Given the description of an element on the screen output the (x, y) to click on. 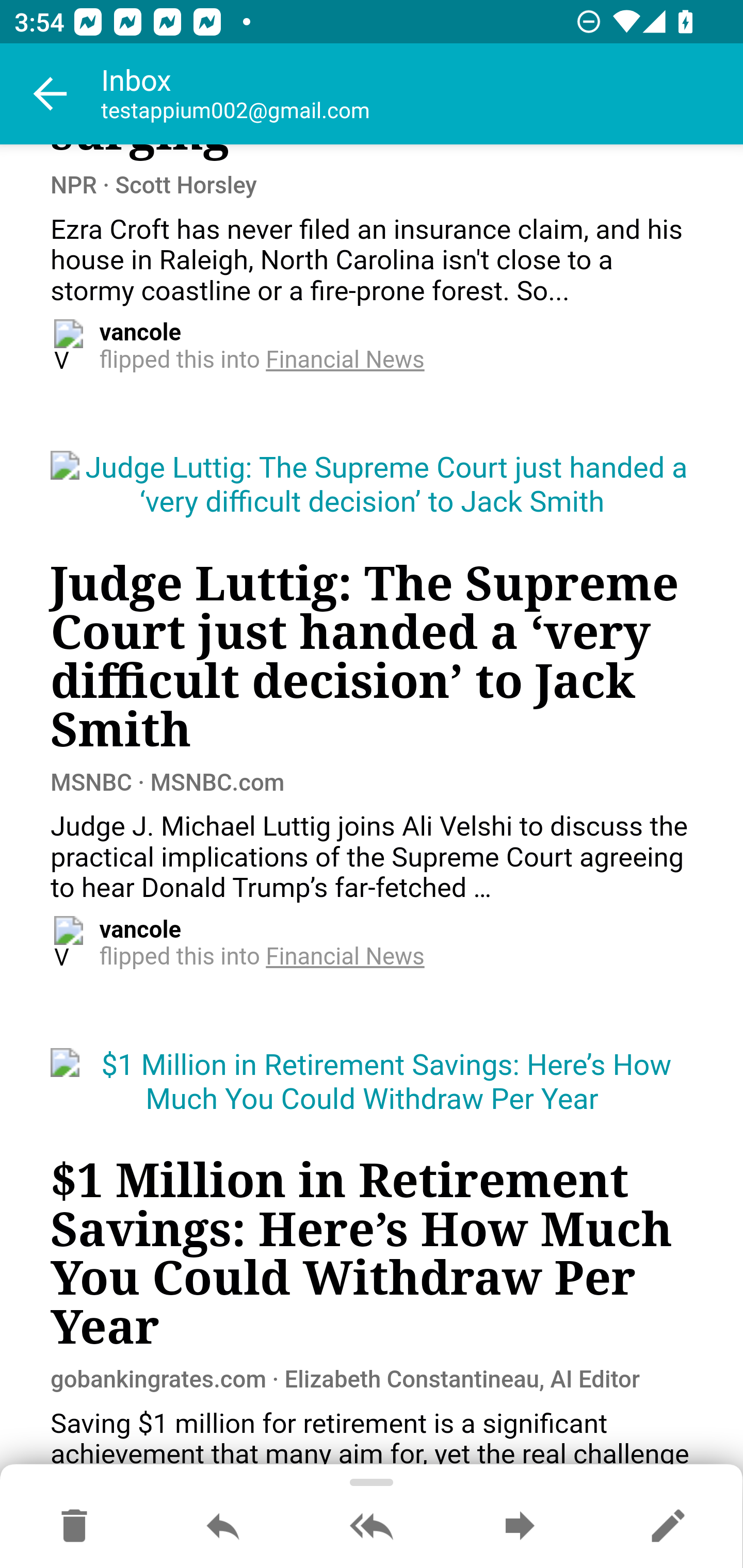
Navigate up (50, 93)
Inbox testappium002@gmail.com (422, 93)
Financial News (345, 361)
Financial News (345, 957)
Move to Deleted (74, 1527)
Reply (222, 1527)
Reply all (371, 1527)
Forward (519, 1527)
Reply as new (667, 1527)
